Given the description of an element on the screen output the (x, y) to click on. 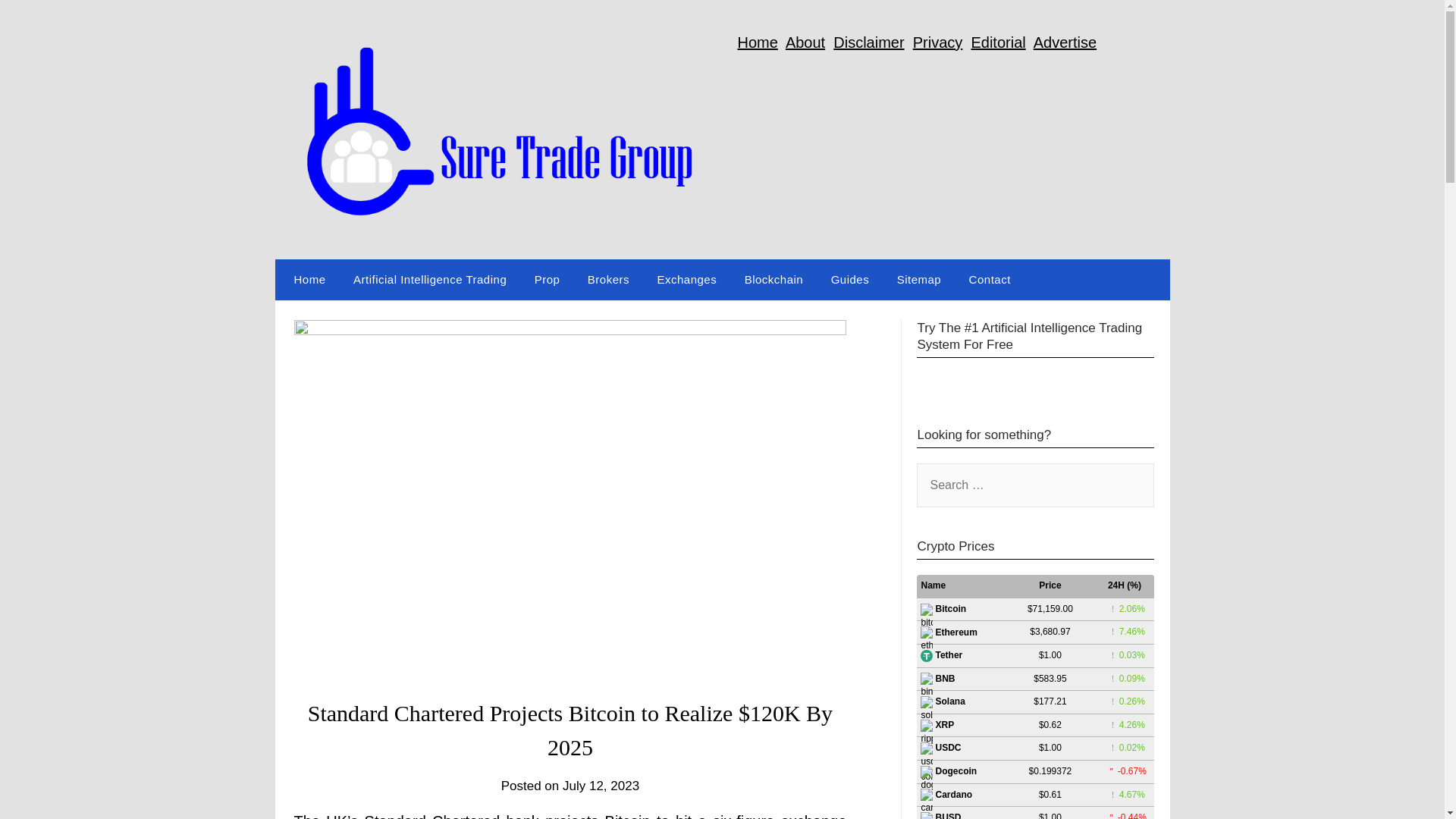
About (805, 42)
Search (38, 22)
Disclaimer (868, 42)
Blockchain (773, 279)
Advertise (1064, 42)
cryptocurrency exchange (813, 816)
Editorial (998, 42)
exchange (813, 816)
Brokers (608, 279)
Artificial Intelligence Trading (429, 279)
Guides (850, 279)
Exchanges (687, 279)
Contact (989, 279)
Sitemap (919, 279)
